Given the description of an element on the screen output the (x, y) to click on. 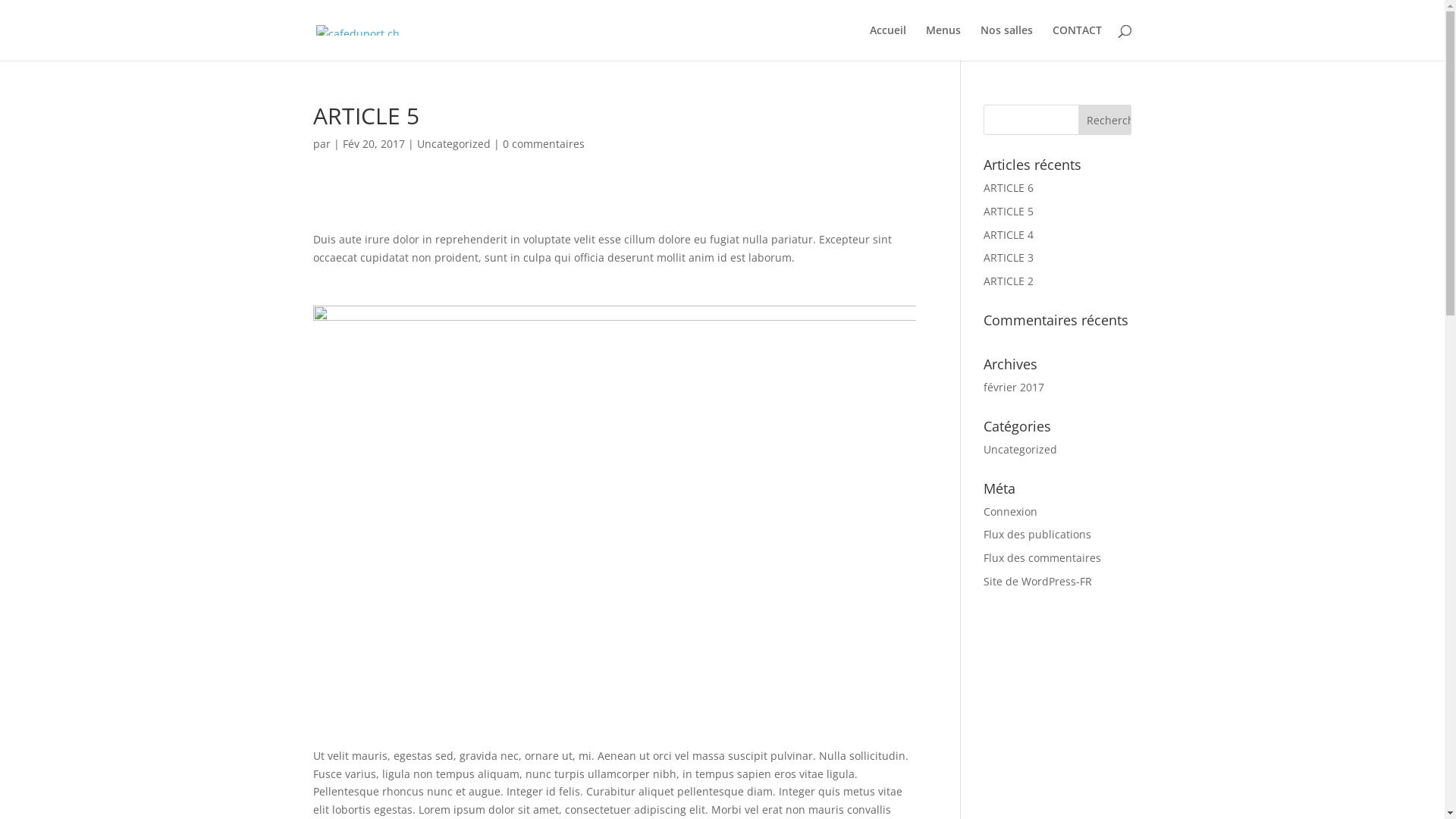
Connexion Element type: text (1010, 511)
Menus Element type: text (942, 42)
ARTICLE 4 Element type: text (1008, 234)
ARTICLE 6 Element type: text (1008, 187)
Uncategorized Element type: text (1020, 449)
ARTICLE 3 Element type: text (1008, 257)
Accueil Element type: text (887, 42)
ARTICLE 2 Element type: text (1008, 280)
Site de WordPress-FR Element type: text (1037, 581)
0 commentaires Element type: text (542, 143)
Nos salles Element type: text (1005, 42)
Rechercher Element type: text (1104, 119)
Uncategorized Element type: text (453, 143)
Flux des publications Element type: text (1037, 534)
ARTICLE 5 Element type: text (1008, 210)
Flux des commentaires Element type: text (1042, 557)
CONTACT Element type: text (1076, 42)
